Given the description of an element on the screen output the (x, y) to click on. 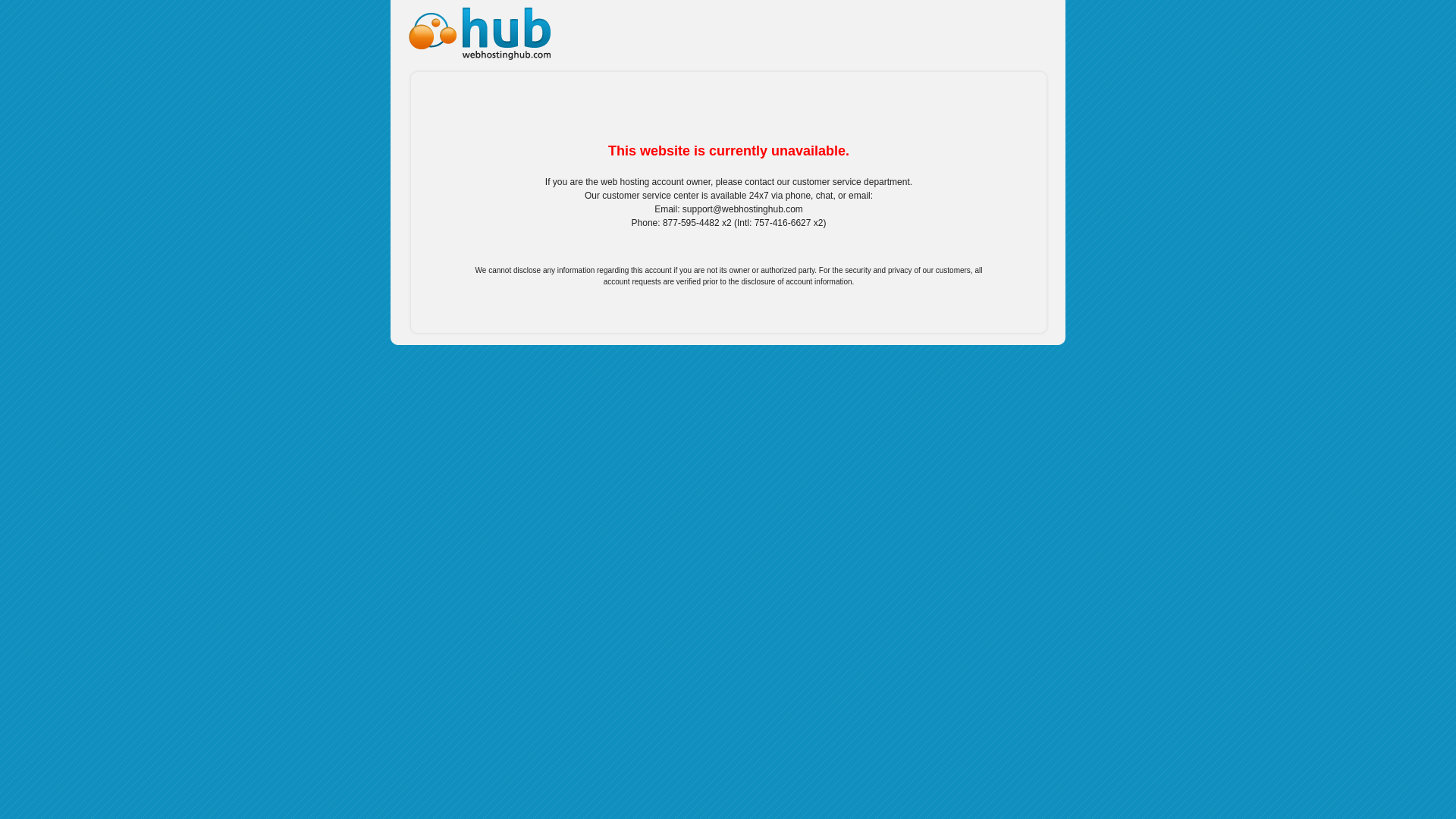
Web Hosting Hub Element type: text (475, 30)
